Given the description of an element on the screen output the (x, y) to click on. 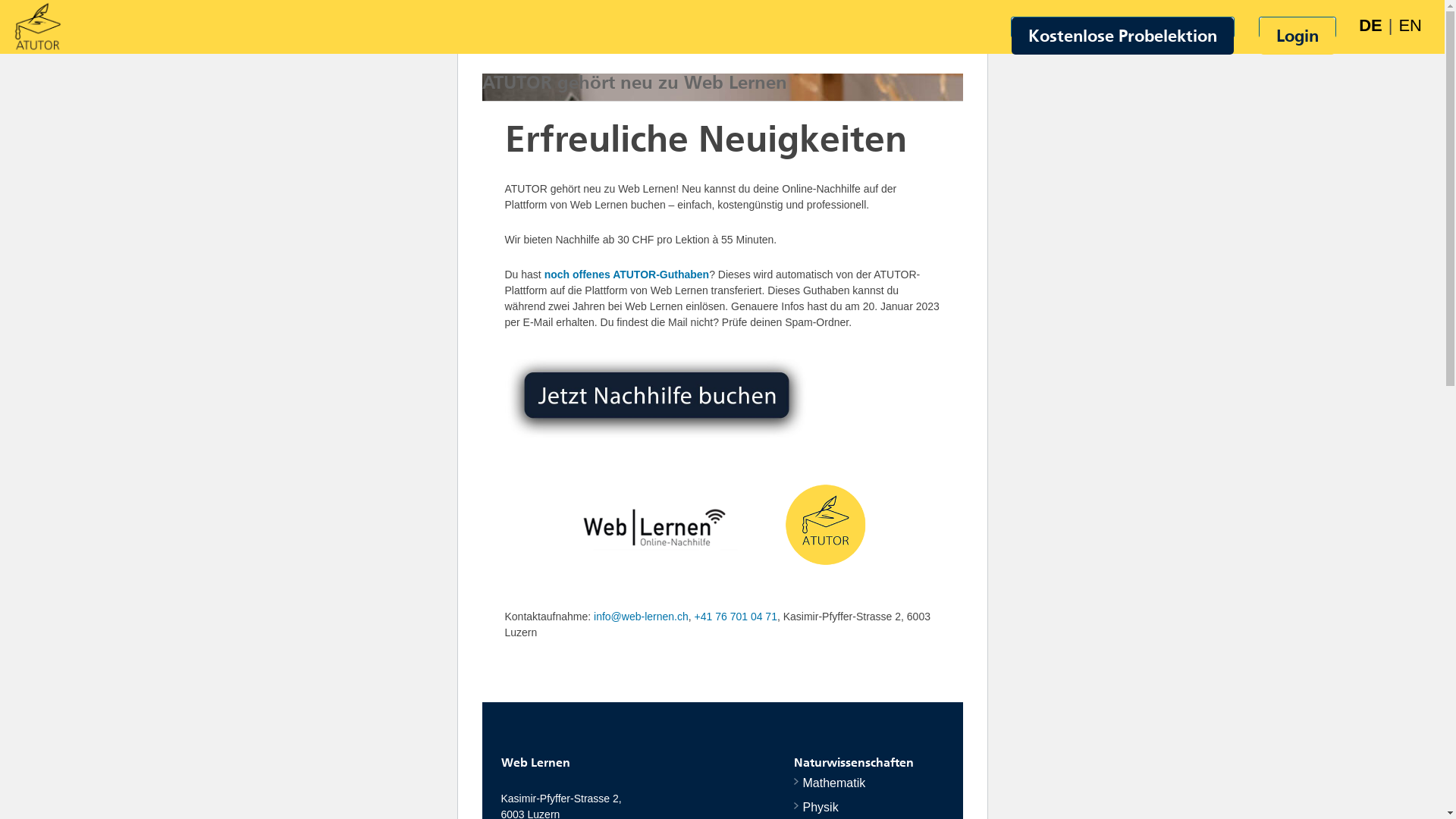
Mathematik Element type: text (829, 782)
+41 76 701 04 71 Element type: text (735, 616)
info@web-lernen.ch Element type: text (640, 616)
Physik Element type: text (815, 806)
EN Element type: text (1409, 24)
Login Element type: text (1297, 35)
Kostenlose Probelektion Element type: text (1122, 35)
noch offenes ATUTOR-Guthaben Element type: text (626, 274)
DE Element type: text (1370, 24)
